Given the description of an element on the screen output the (x, y) to click on. 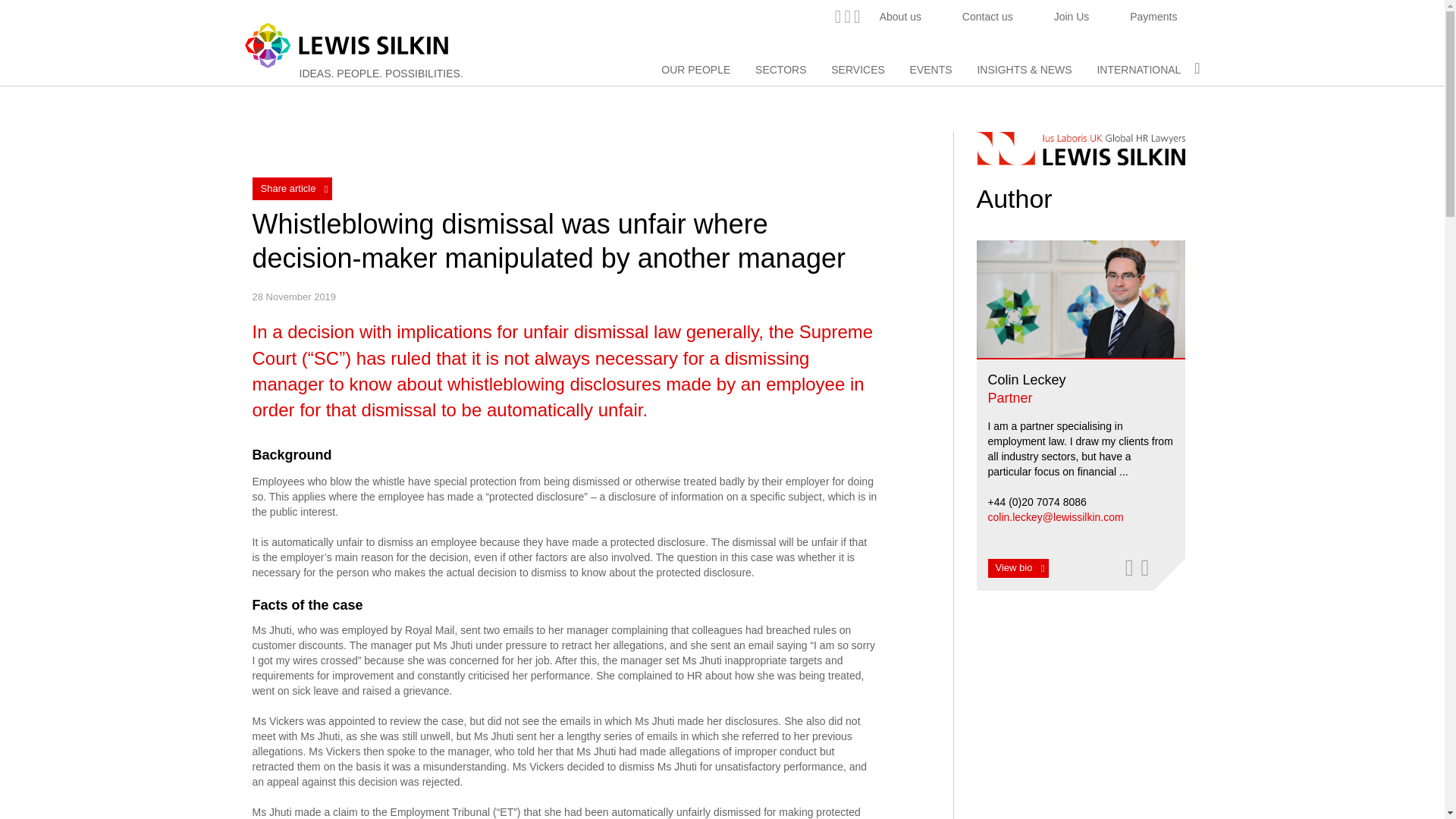
Contact us (987, 16)
Opens in a new tab (1128, 567)
Opens in a new tab (856, 15)
IDEAS. PEOPLE. POSSIBILITIES. (380, 73)
OUR PEOPLE (695, 69)
SECTORS (780, 69)
About us (900, 16)
Opens in a new tab (847, 15)
Opens in a new tab (837, 15)
Payments (1153, 16)
Opens in a new tab (1144, 567)
Join Us (1071, 16)
SERVICES (858, 69)
